Given the description of an element on the screen output the (x, y) to click on. 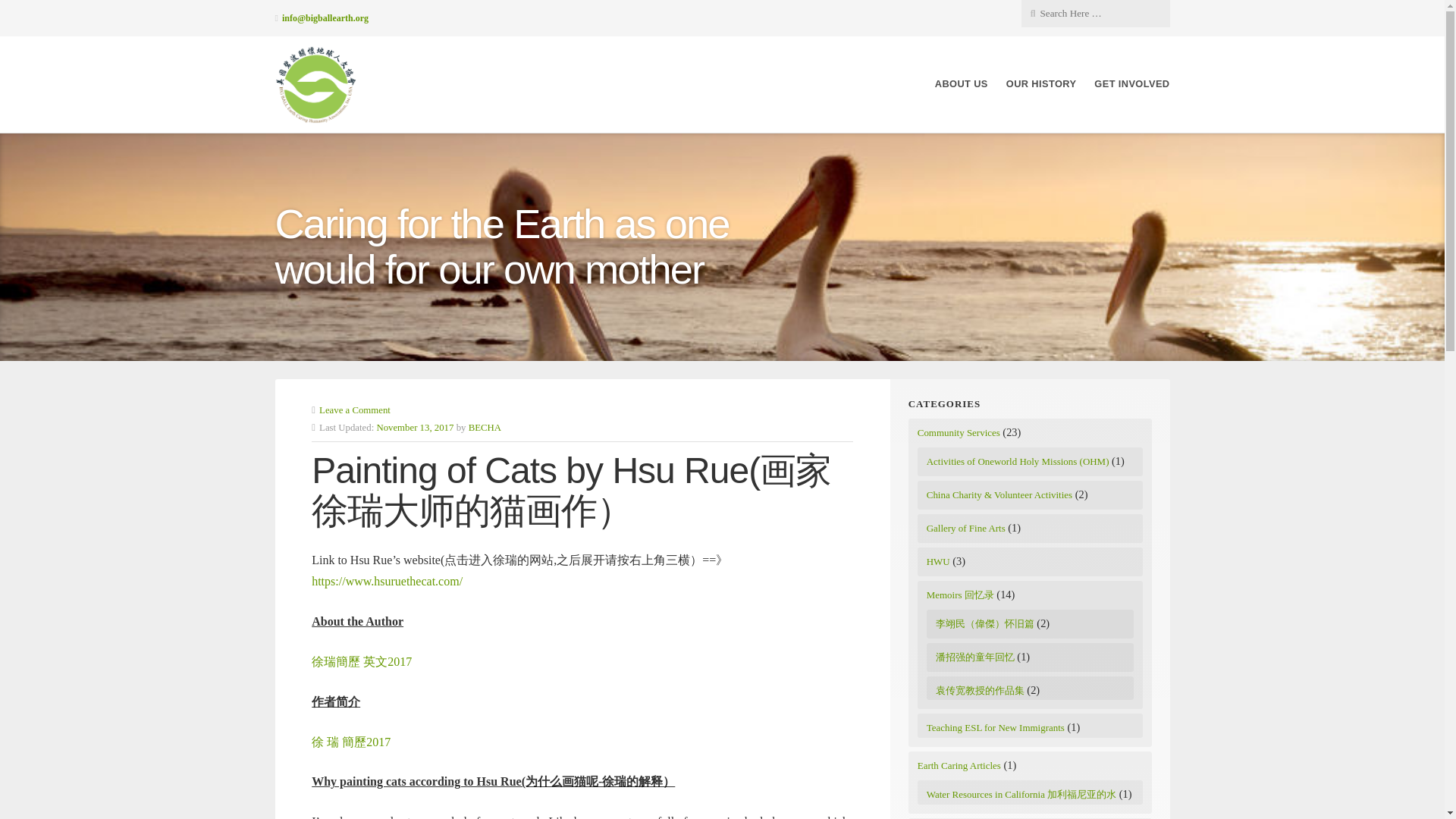
BECHA (484, 427)
Leave a Comment (354, 409)
1:08 am (413, 427)
Community Services (958, 432)
OUR HISTORY (1041, 83)
HWU (938, 561)
November 13, 2017 (413, 427)
Earth Caring Articles (959, 765)
ABOUT US (961, 83)
Go (116, 12)
